Given the description of an element on the screen output the (x, y) to click on. 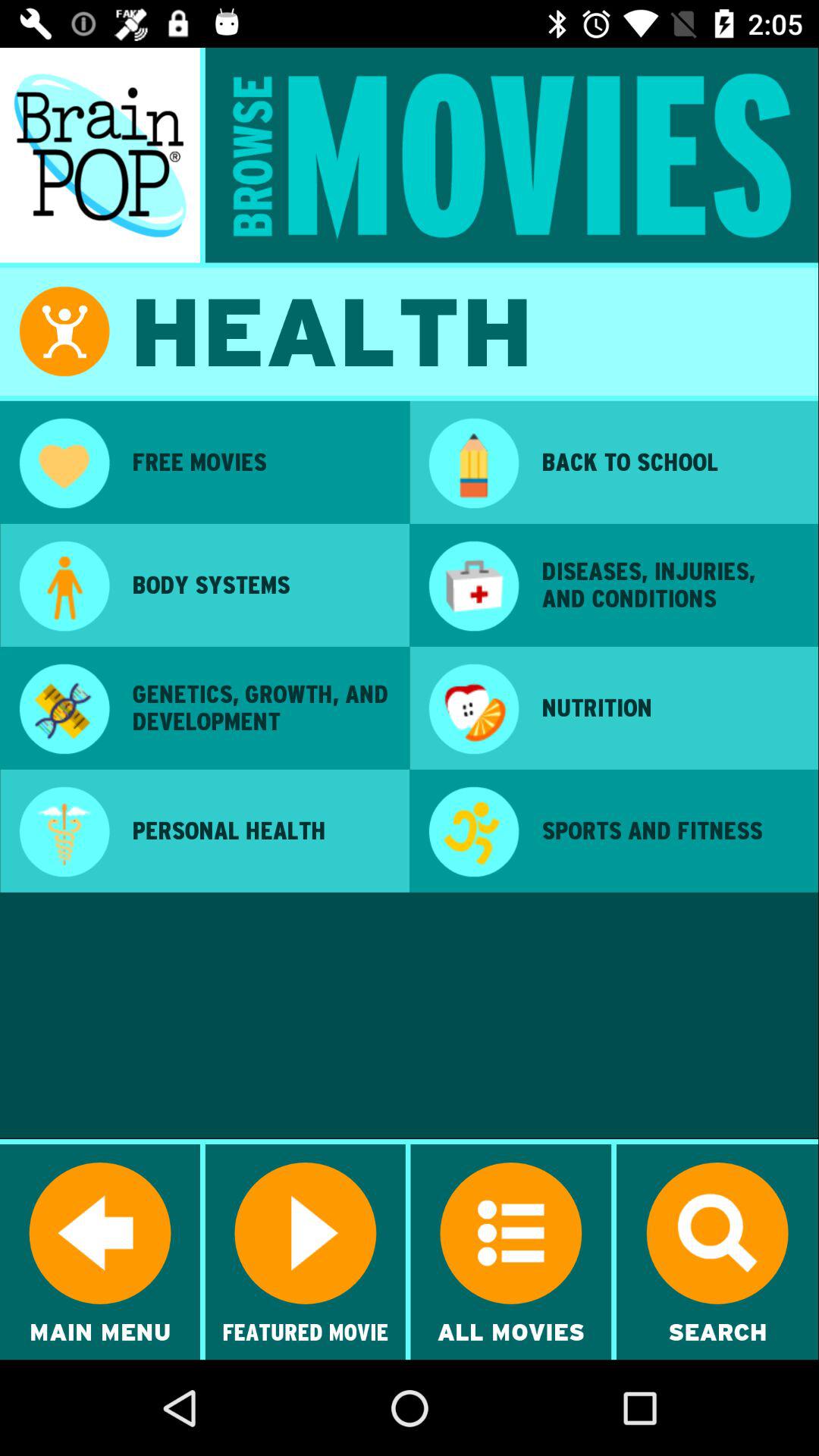
turn off the icon to the left of genetics growth and app (63, 710)
